Given the description of an element on the screen output the (x, y) to click on. 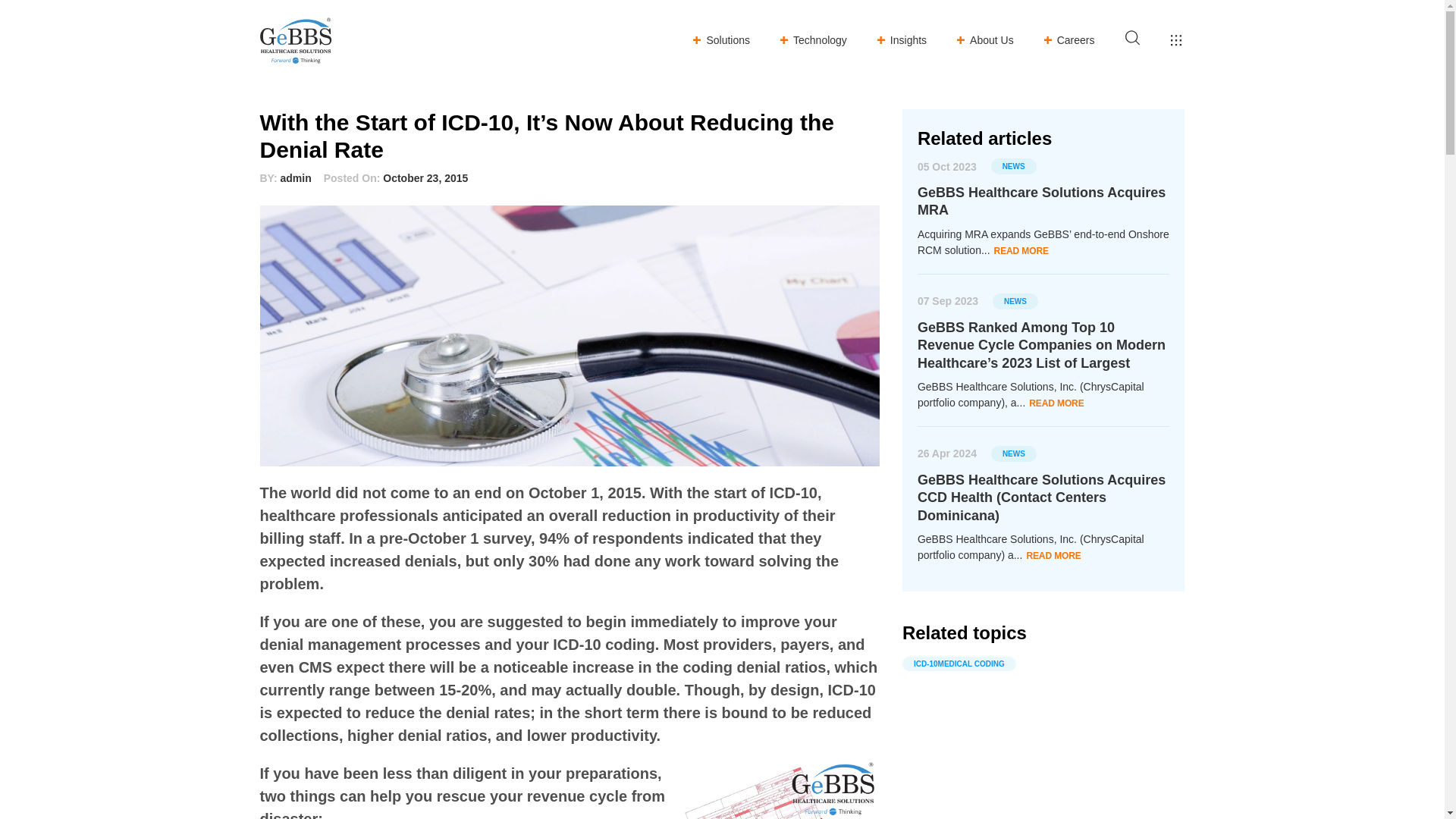
Insights (901, 40)
Technology (813, 40)
Solutions (721, 40)
